Given the description of an element on the screen output the (x, y) to click on. 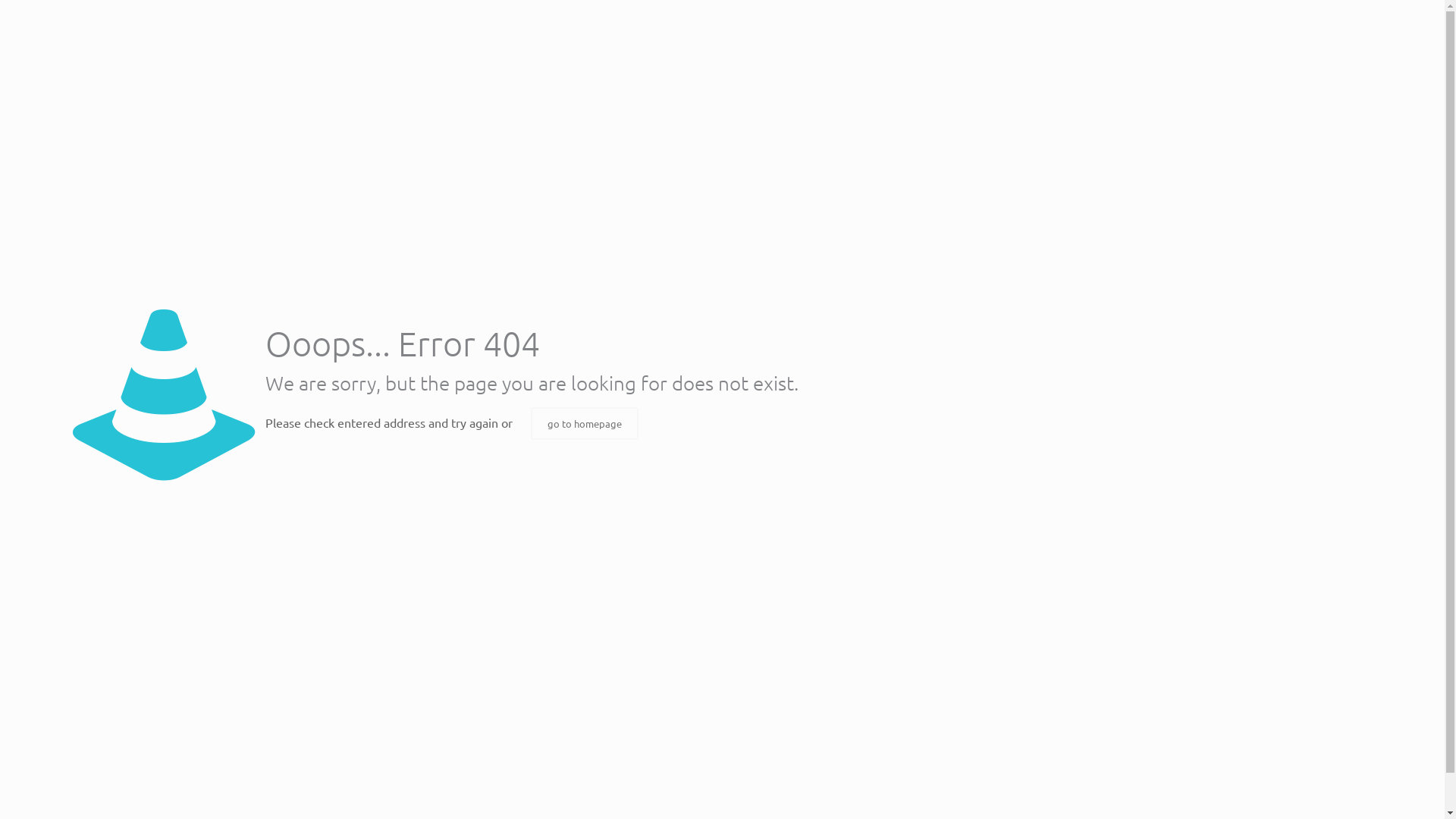
go to homepage Element type: text (584, 423)
